Given the description of an element on the screen output the (x, y) to click on. 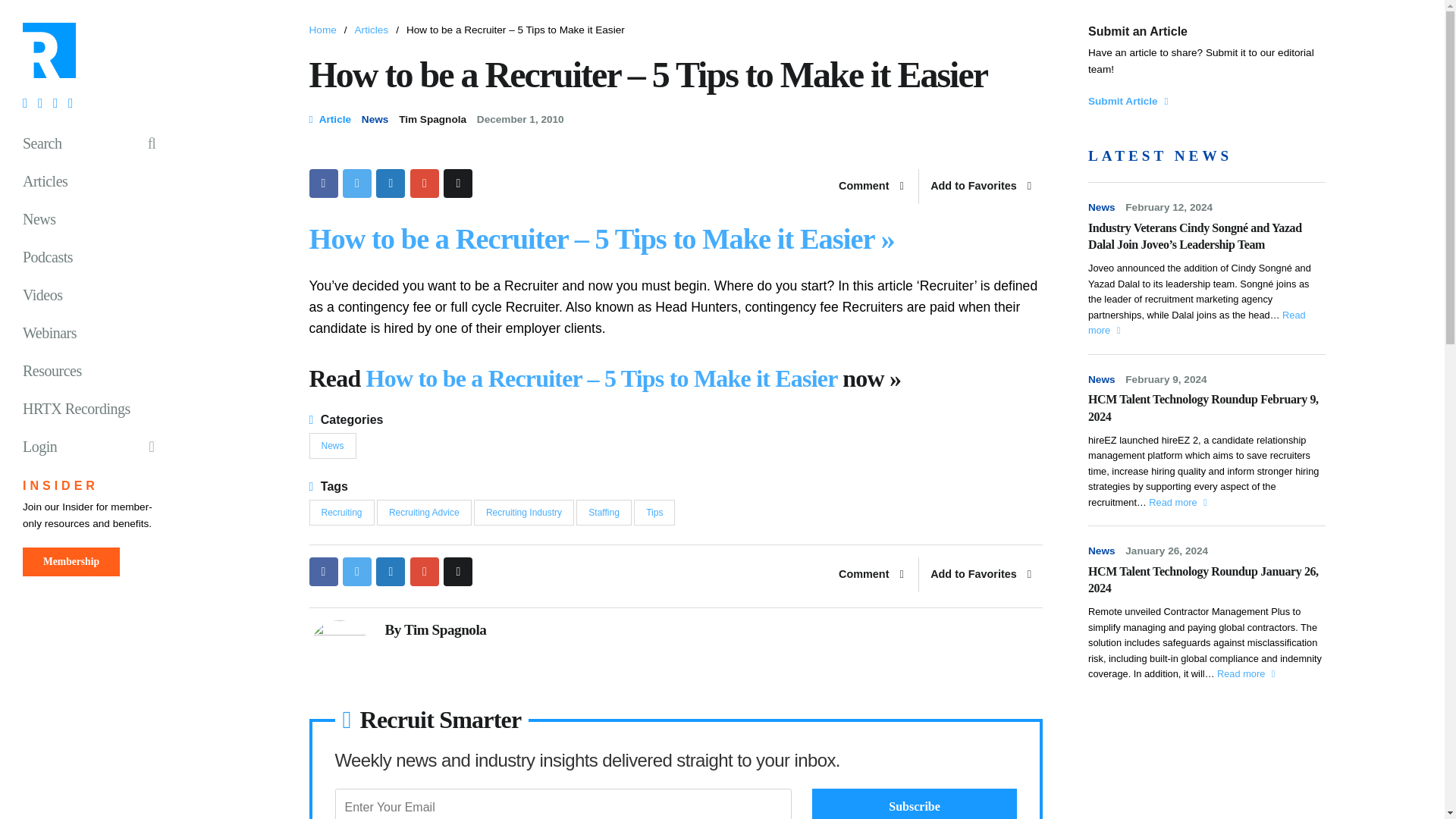
Submit Article (1127, 101)
Recruiting Industry (523, 512)
Add to Favorites (980, 574)
Webinars (95, 332)
Login (95, 446)
Recruiting (341, 512)
Comment (871, 574)
Tim Spagnola (431, 119)
Articles (371, 30)
Staffing (603, 512)
Resources (95, 370)
HRTX Recordings (95, 408)
Podcasts (95, 257)
Recruiting Advice (424, 512)
Add to Favorites (980, 185)
